Given the description of an element on the screen output the (x, y) to click on. 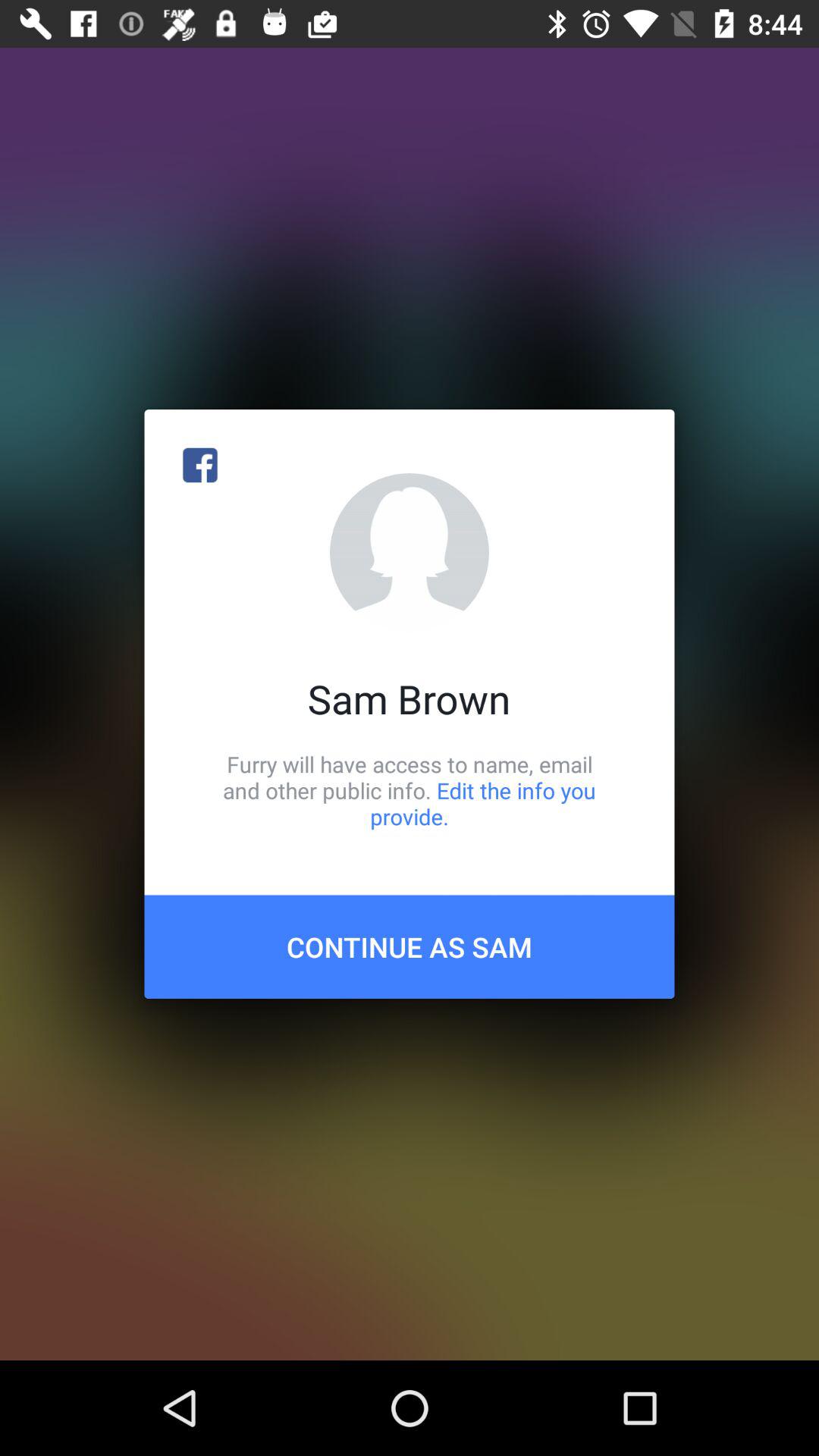
click icon above continue as sam (409, 790)
